Given the description of an element on the screen output the (x, y) to click on. 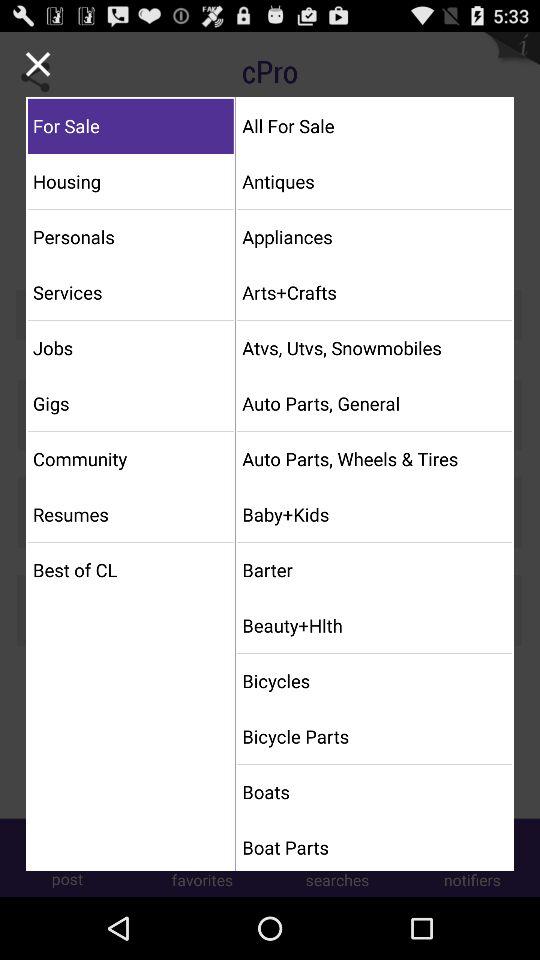
close menu (37, 63)
